Given the description of an element on the screen output the (x, y) to click on. 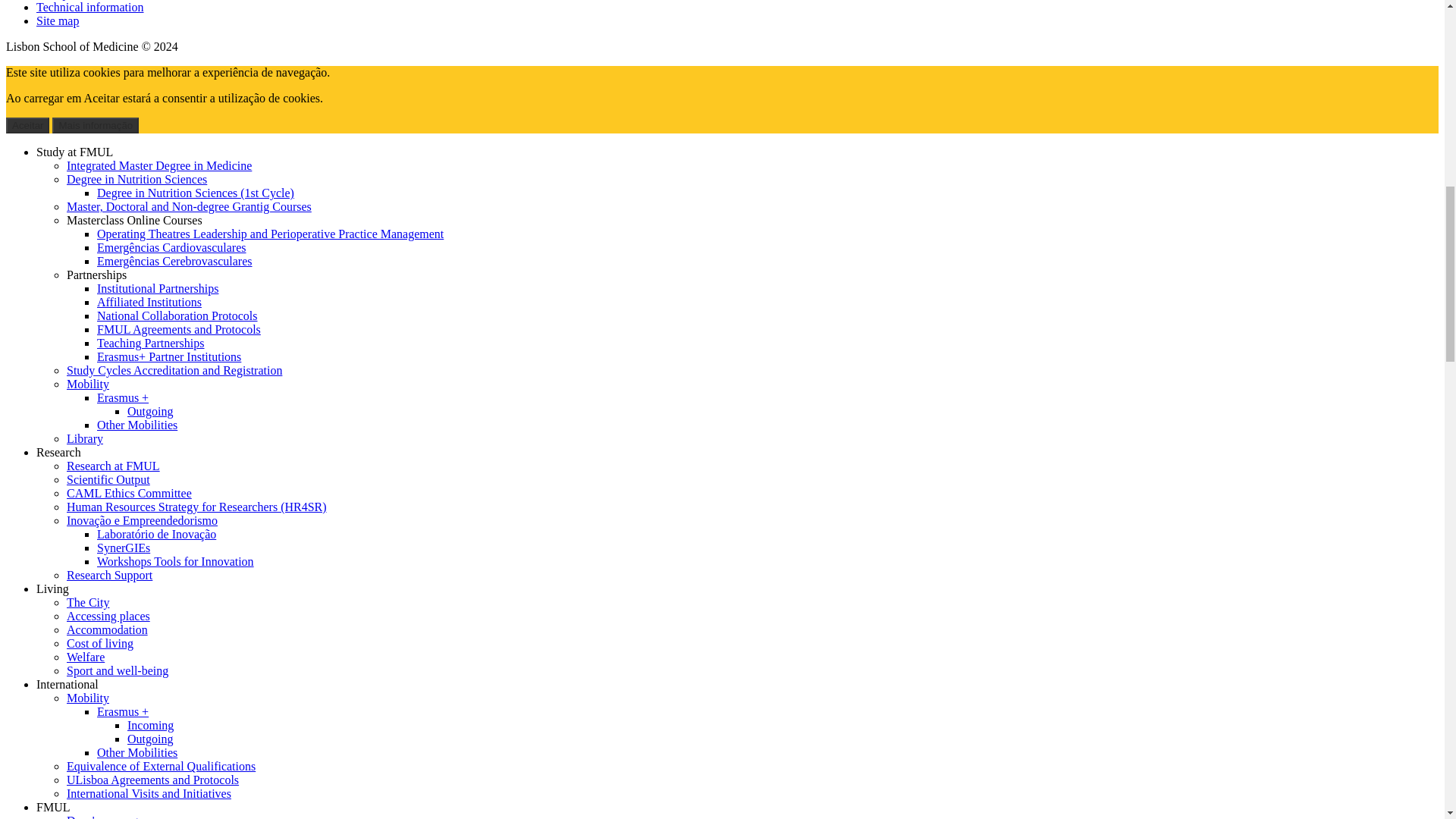
Site map (57, 20)
Degree in Nutrition Sciences (136, 178)
Integrated Master Degree in Medicine (158, 164)
Study Cycles Accreditation and Registration (174, 369)
Teaching Partnerships (151, 342)
National Collaboration Protocols (177, 315)
Institutional Partnerships (157, 287)
FMUL Agreements and Protocols (178, 328)
Aceitar (27, 125)
